Given the description of an element on the screen output the (x, y) to click on. 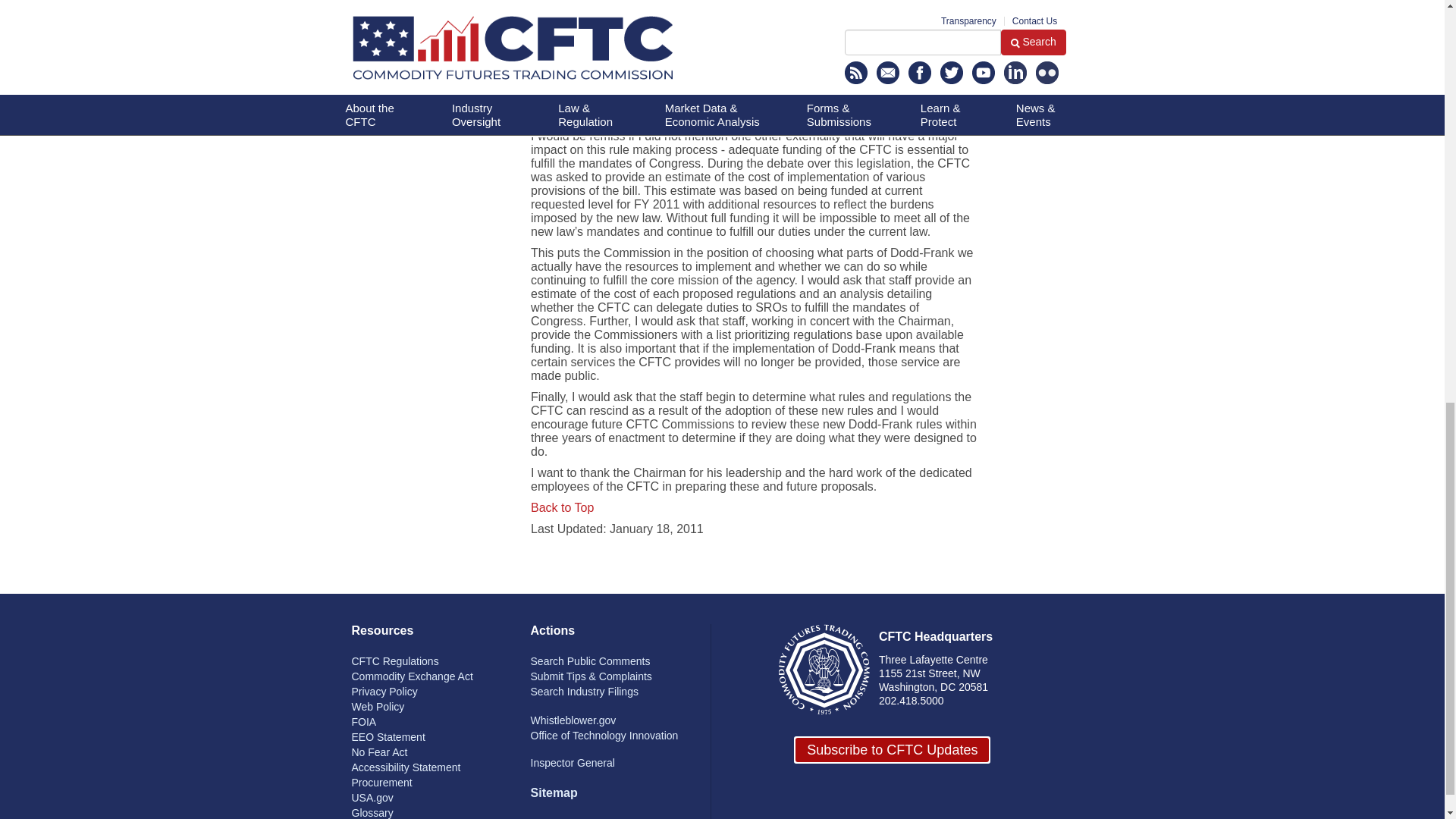
Subscribe to CFTC Updates (891, 749)
